Given the description of an element on the screen output the (x, y) to click on. 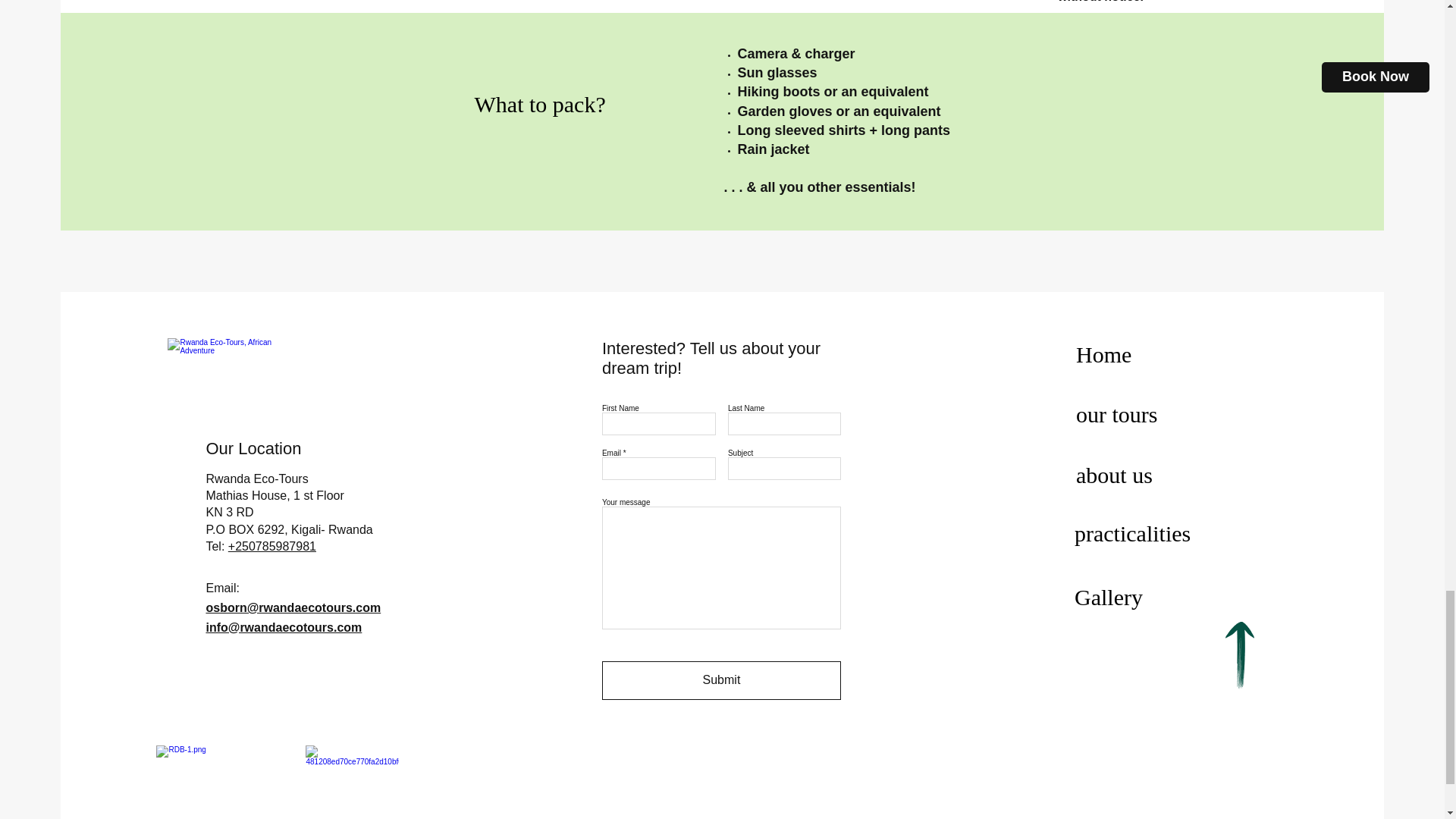
practicalities (1132, 532)
our tours (1116, 414)
about us (1114, 474)
Home (1103, 353)
Submit (721, 680)
